Given the description of an element on the screen output the (x, y) to click on. 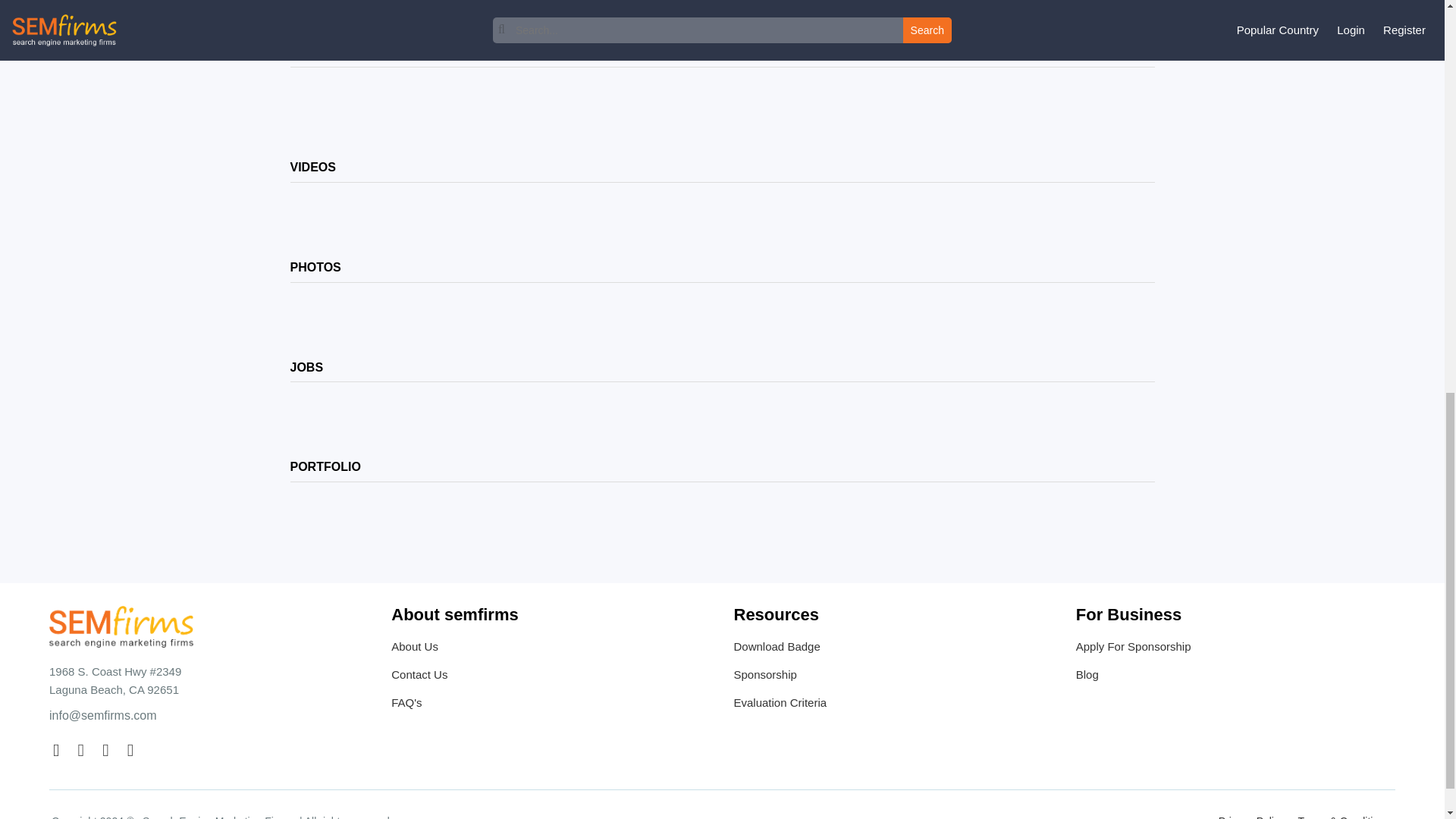
About Us (550, 649)
Contact Us (550, 676)
